Given the description of an element on the screen output the (x, y) to click on. 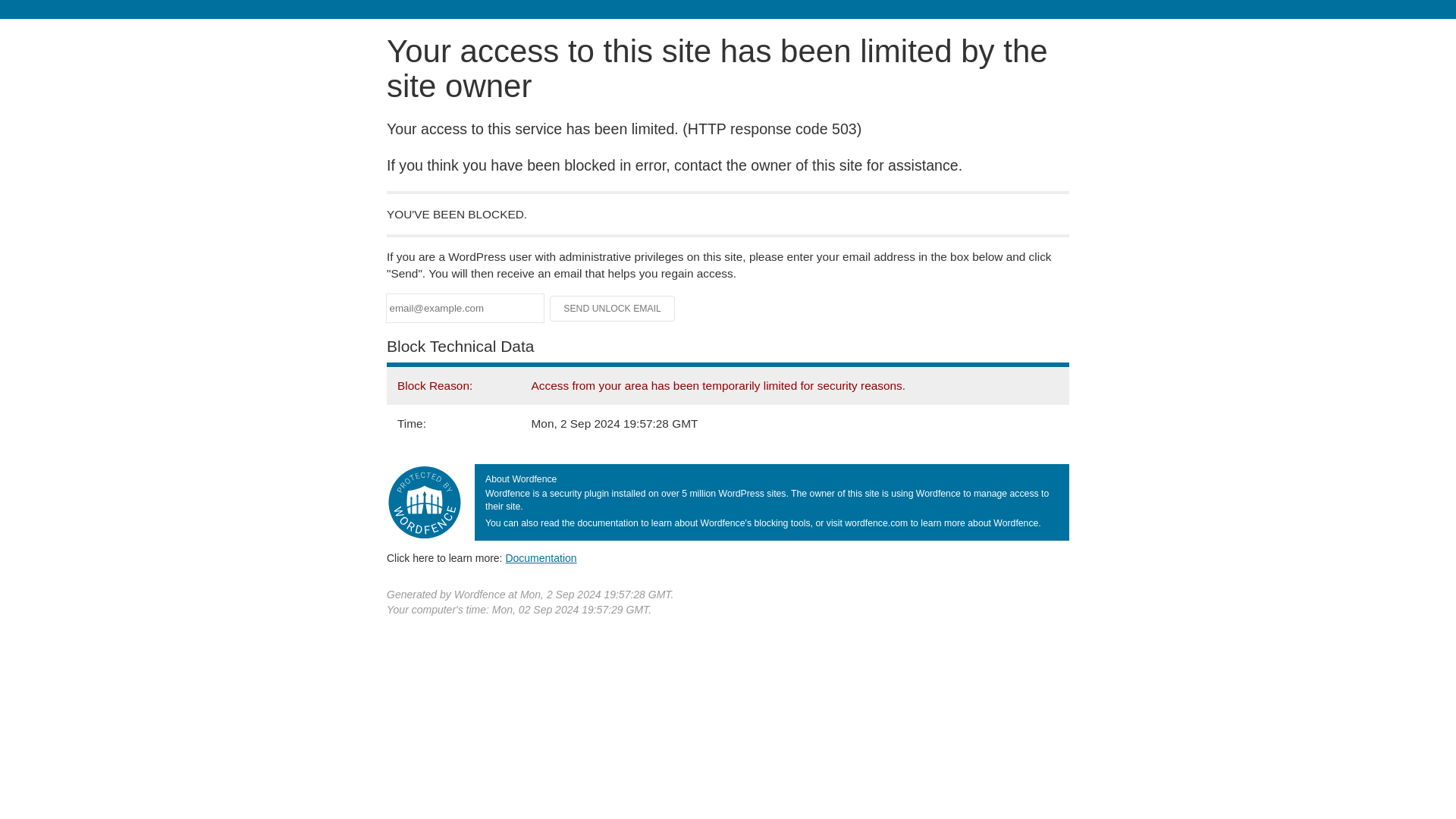
Documentation (540, 558)
Send Unlock Email (612, 308)
Send Unlock Email (612, 308)
